Given the description of an element on the screen output the (x, y) to click on. 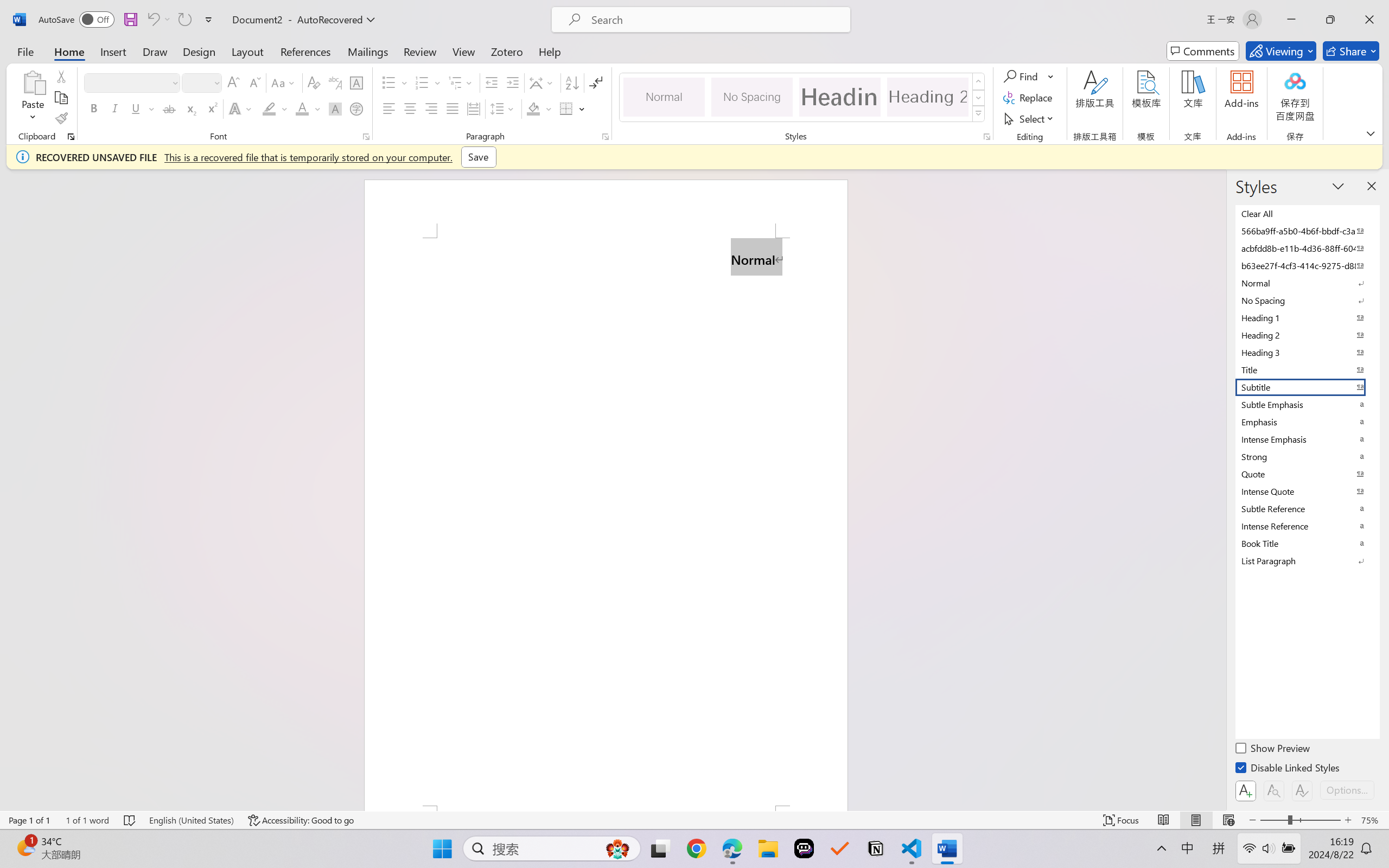
Strikethrough (169, 108)
Text Effects and Typography (241, 108)
Italic (115, 108)
Font Color RGB(255, 0, 0) (302, 108)
Text Highlight Color Yellow (269, 108)
Decrease Indent (491, 82)
Replace... (1029, 97)
Multilevel List (461, 82)
Shrink Font (253, 82)
Quote (1306, 473)
